Given the description of an element on the screen output the (x, y) to click on. 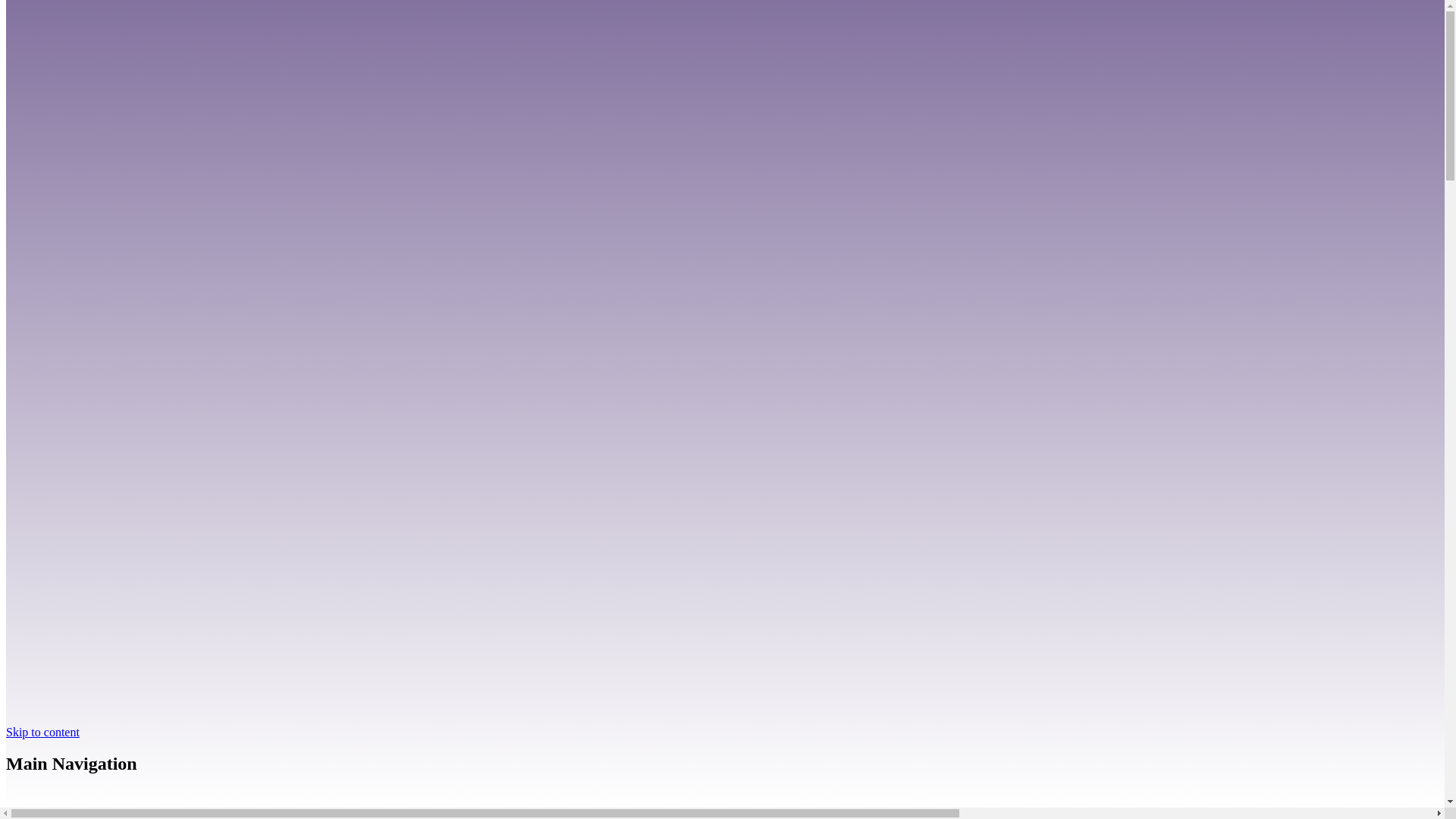
Skip to content Element type: text (42, 730)
